Given the description of an element on the screen output the (x, y) to click on. 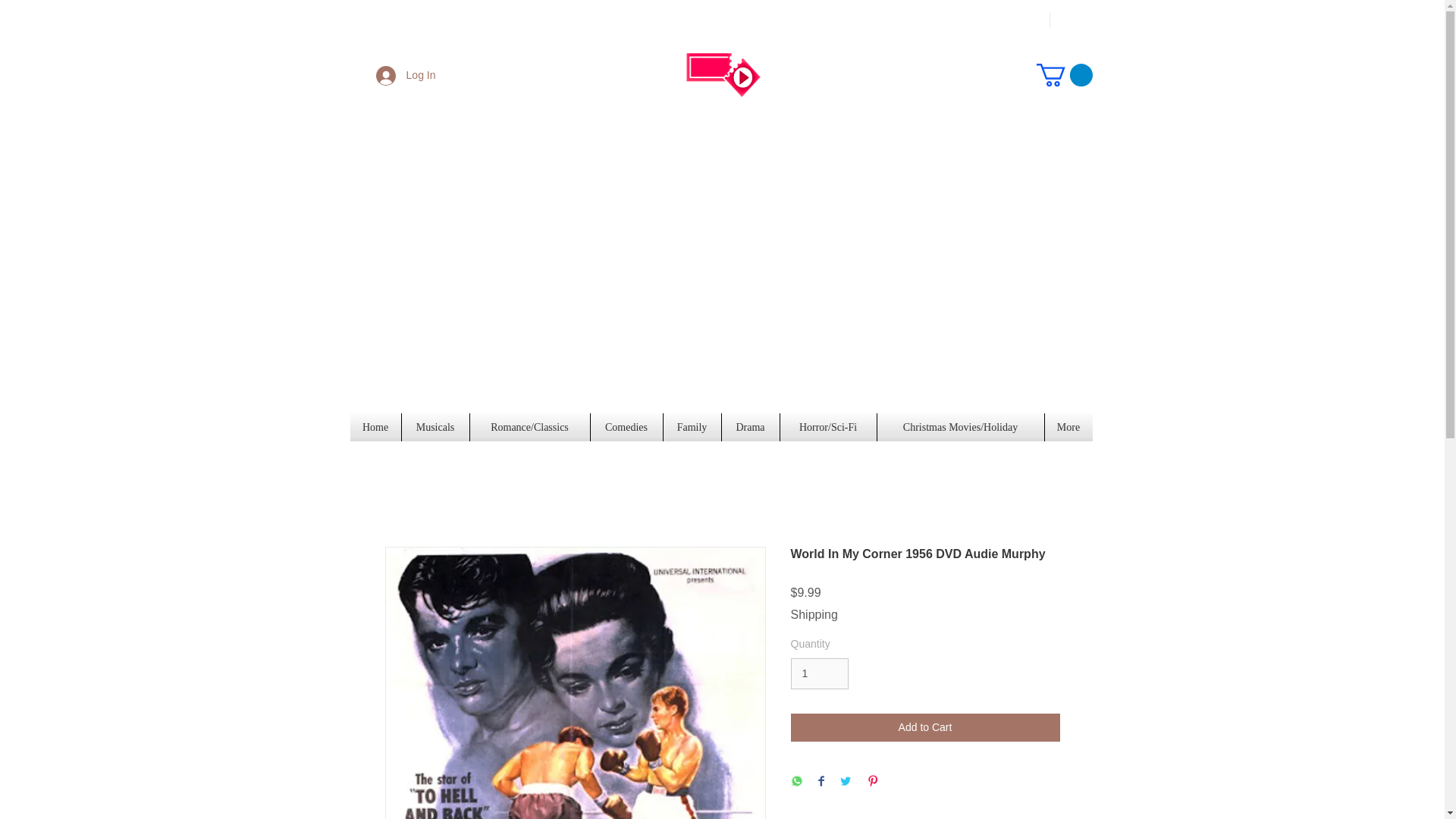
1 (818, 673)
Home (375, 427)
Shipping (813, 614)
Musicals (434, 427)
Drama (750, 427)
Comedies (625, 427)
Log In (405, 74)
Add to Cart (924, 727)
Family (691, 427)
